Given the description of an element on the screen output the (x, y) to click on. 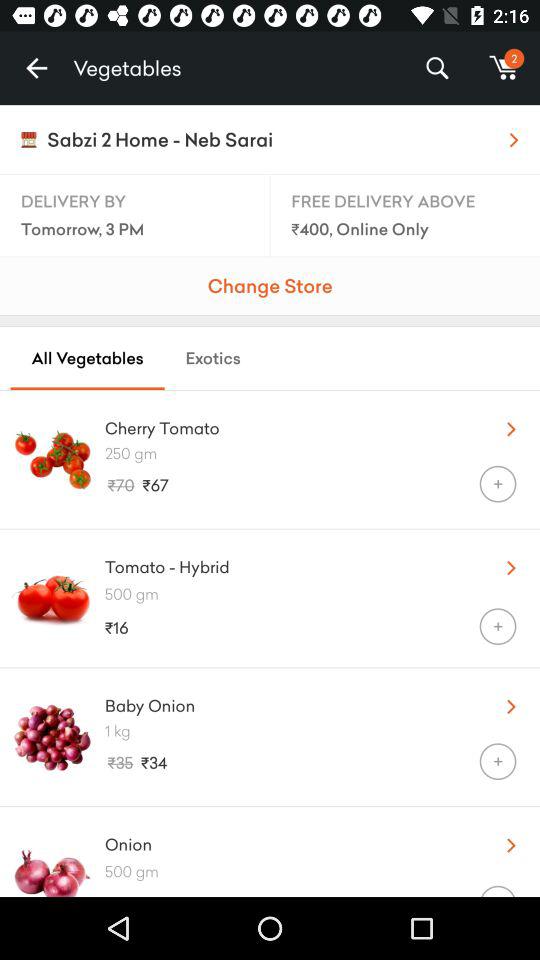
press the icon to the left of the + (268, 890)
